Given the description of an element on the screen output the (x, y) to click on. 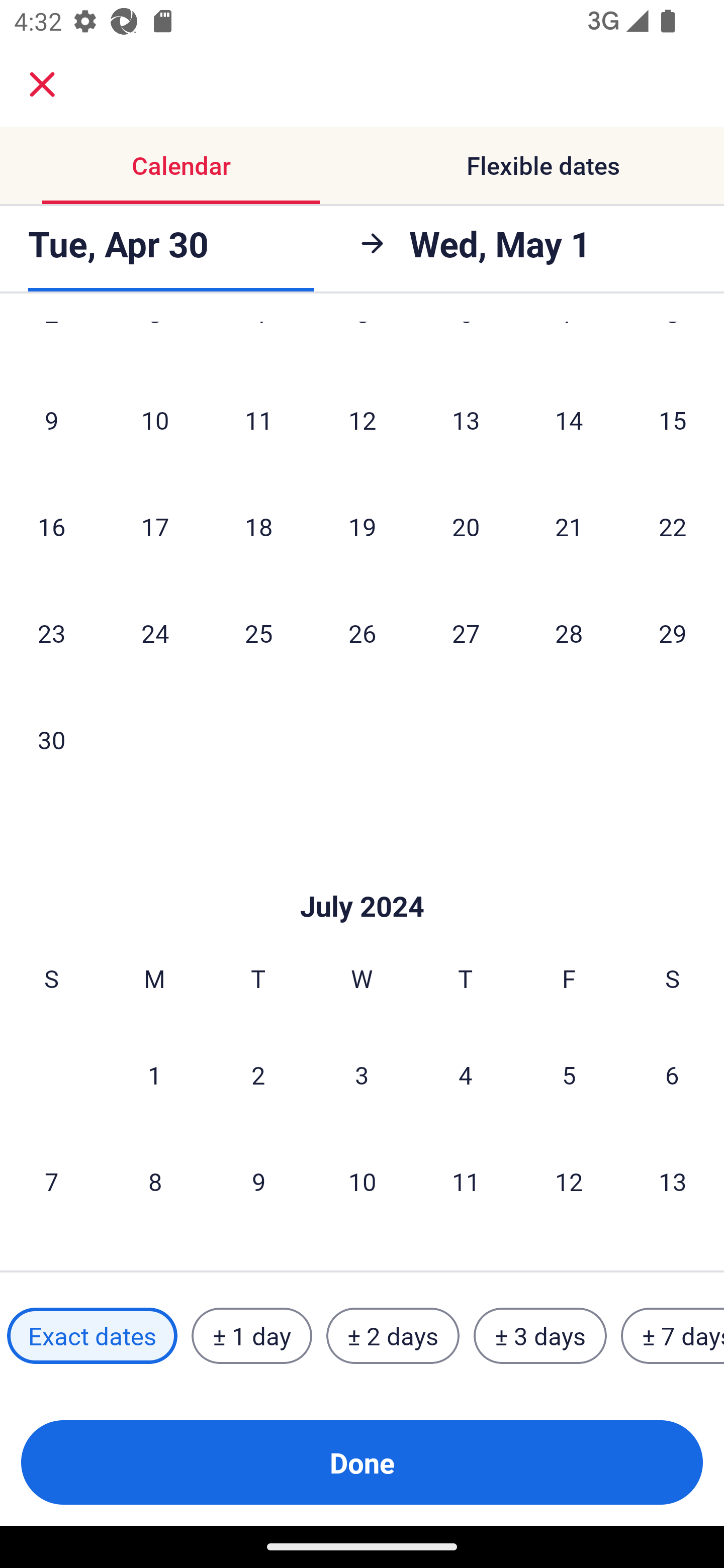
close. (42, 84)
Flexible dates (542, 164)
9 Sunday, June 9, 2024 (51, 419)
10 Monday, June 10, 2024 (155, 419)
11 Tuesday, June 11, 2024 (258, 419)
12 Wednesday, June 12, 2024 (362, 419)
13 Thursday, June 13, 2024 (465, 419)
14 Friday, June 14, 2024 (569, 419)
15 Saturday, June 15, 2024 (672, 419)
16 Sunday, June 16, 2024 (51, 526)
17 Monday, June 17, 2024 (155, 526)
18 Tuesday, June 18, 2024 (258, 526)
19 Wednesday, June 19, 2024 (362, 526)
20 Thursday, June 20, 2024 (465, 526)
21 Friday, June 21, 2024 (569, 526)
22 Saturday, June 22, 2024 (672, 526)
23 Sunday, June 23, 2024 (51, 633)
24 Monday, June 24, 2024 (155, 633)
25 Tuesday, June 25, 2024 (258, 633)
26 Wednesday, June 26, 2024 (362, 633)
27 Thursday, June 27, 2024 (465, 633)
28 Friday, June 28, 2024 (569, 633)
29 Saturday, June 29, 2024 (672, 633)
30 Sunday, June 30, 2024 (51, 739)
Skip to Done (362, 876)
1 Monday, July 1, 2024 (154, 1074)
2 Tuesday, July 2, 2024 (257, 1074)
3 Wednesday, July 3, 2024 (361, 1074)
4 Thursday, July 4, 2024 (465, 1074)
5 Friday, July 5, 2024 (568, 1074)
6 Saturday, July 6, 2024 (672, 1074)
7 Sunday, July 7, 2024 (51, 1181)
8 Monday, July 8, 2024 (155, 1181)
9 Tuesday, July 9, 2024 (258, 1181)
10 Wednesday, July 10, 2024 (362, 1181)
11 Thursday, July 11, 2024 (465, 1181)
12 Friday, July 12, 2024 (569, 1181)
13 Saturday, July 13, 2024 (672, 1181)
Exact dates (92, 1335)
± 1 day (251, 1335)
± 2 days (392, 1335)
± 3 days (539, 1335)
± 7 days (672, 1335)
Done (361, 1462)
